Given the description of an element on the screen output the (x, y) to click on. 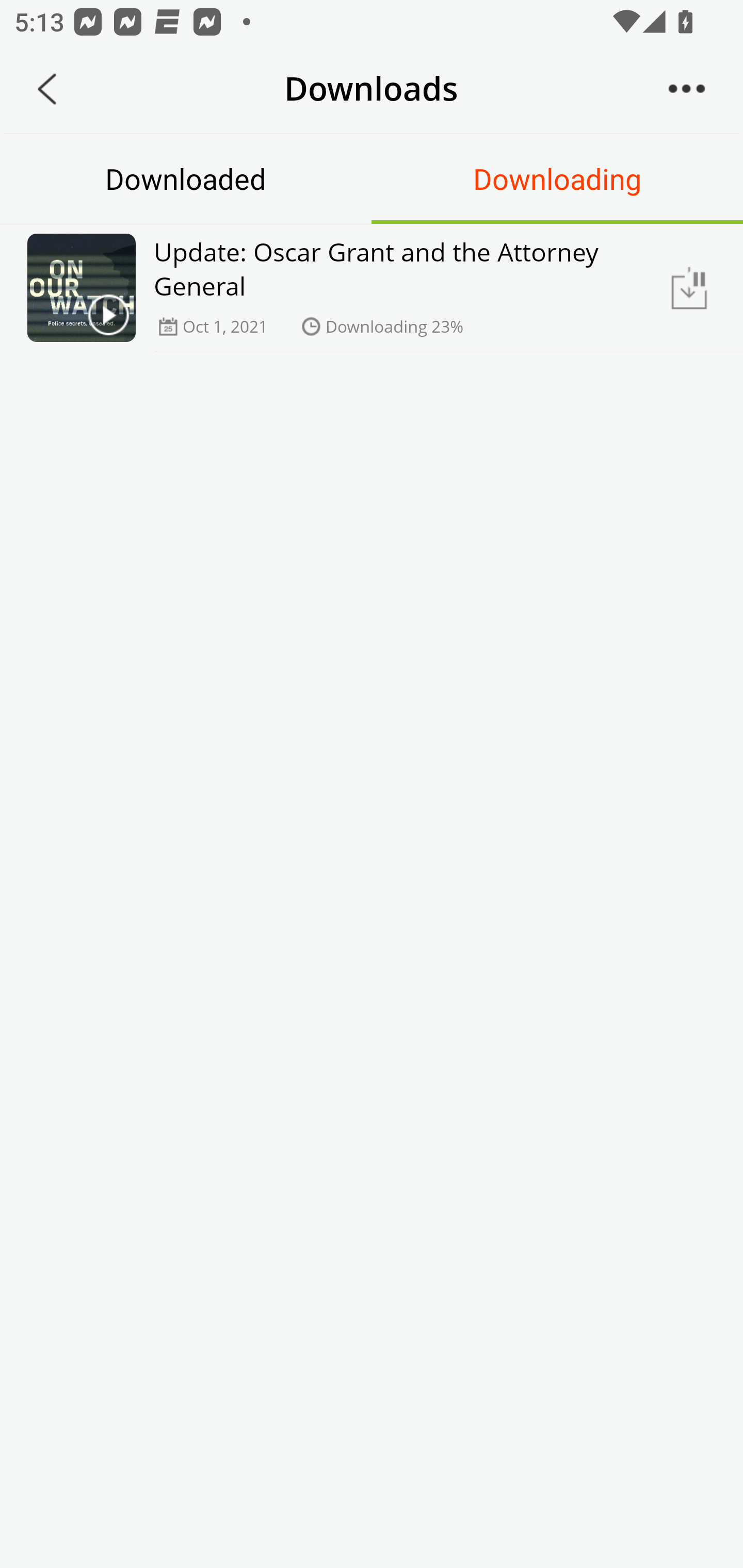
Back (46, 88)
Downloaded (185, 178)
